Given the description of an element on the screen output the (x, y) to click on. 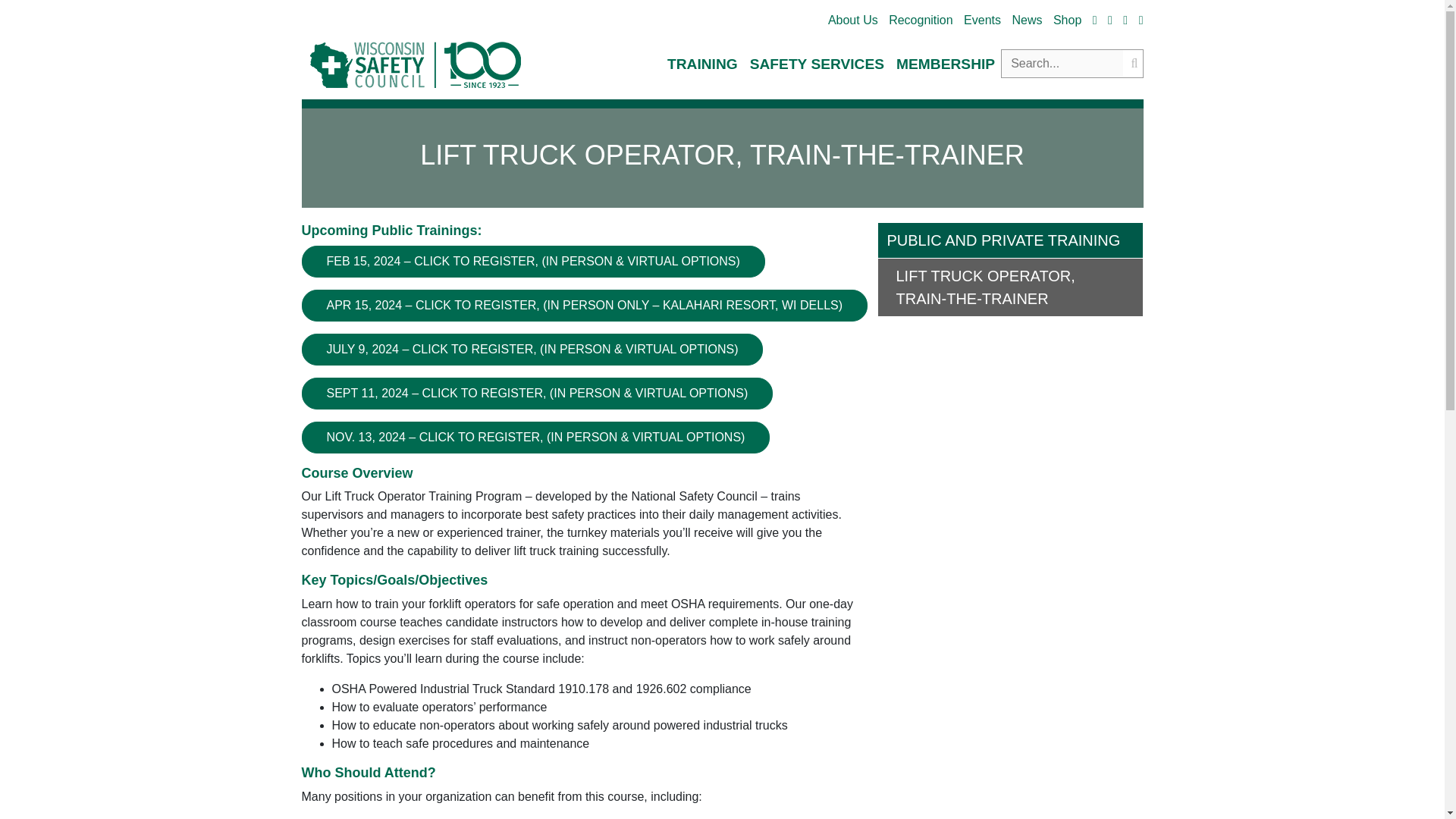
About Us (852, 19)
Events (982, 19)
Training (702, 64)
TRAINING (702, 64)
Recognition (920, 19)
News (1026, 19)
Safety Services (816, 64)
Shop (1066, 19)
MEMBERSHIP (945, 64)
Membership (945, 64)
